Given the description of an element on the screen output the (x, y) to click on. 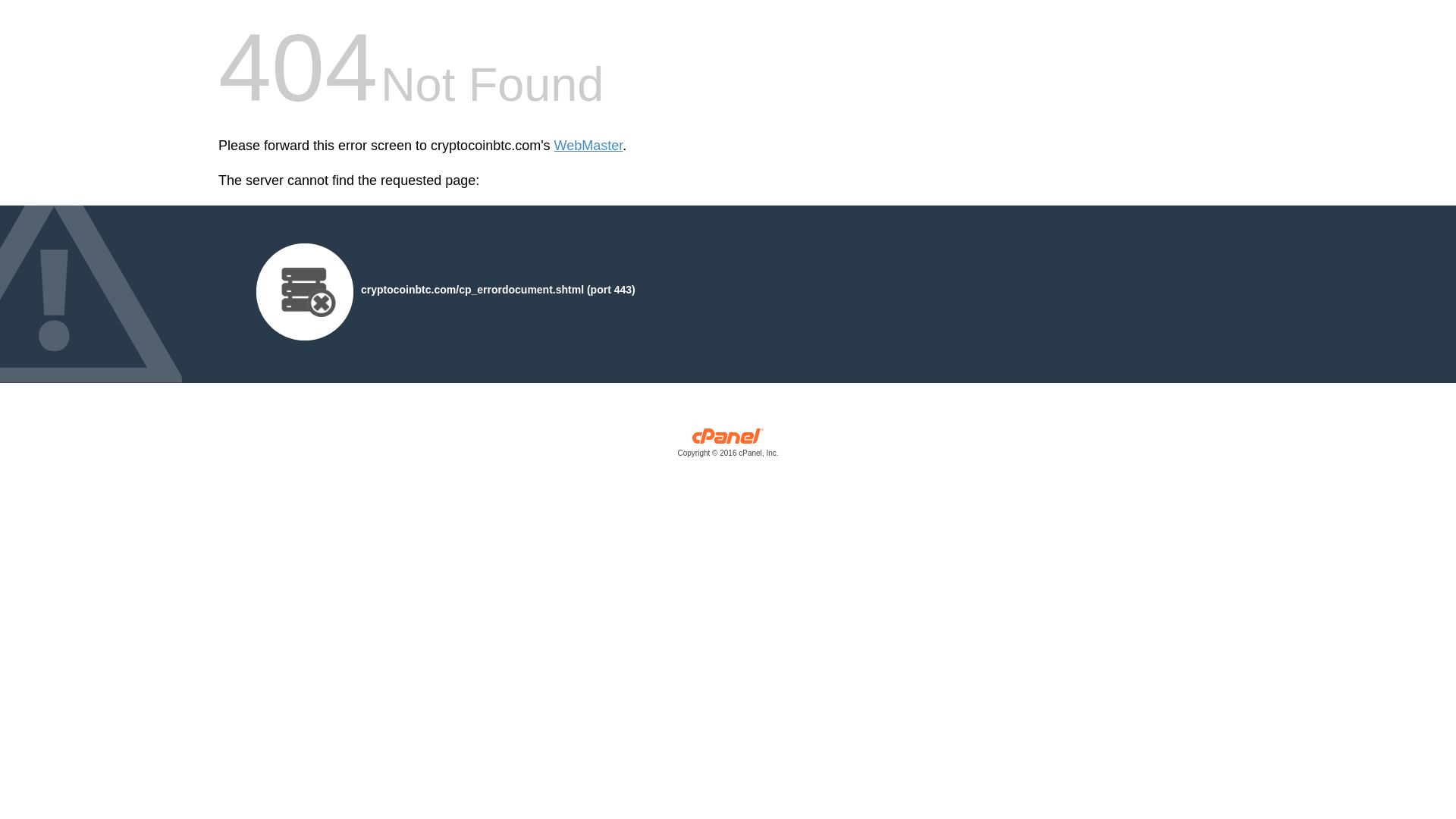
WebMaster (588, 145)
cPanel, Inc. (727, 446)
